Given the description of an element on the screen output the (x, y) to click on. 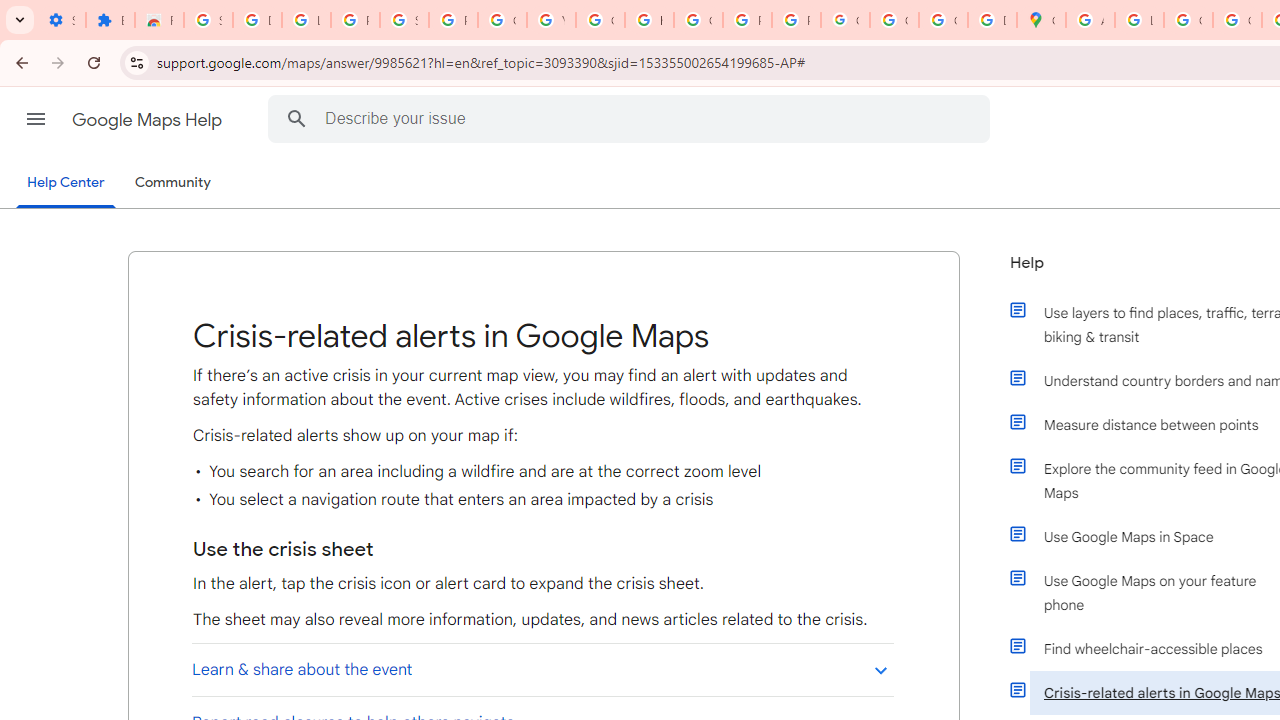
Create your Google Account (1188, 20)
Delete photos & videos - Computer - Google Photos Help (257, 20)
Google Maps (1041, 20)
Describe your issue (632, 118)
Learn how to find your photos - Google Photos Help (306, 20)
Extensions (109, 20)
